Given the description of an element on the screen output the (x, y) to click on. 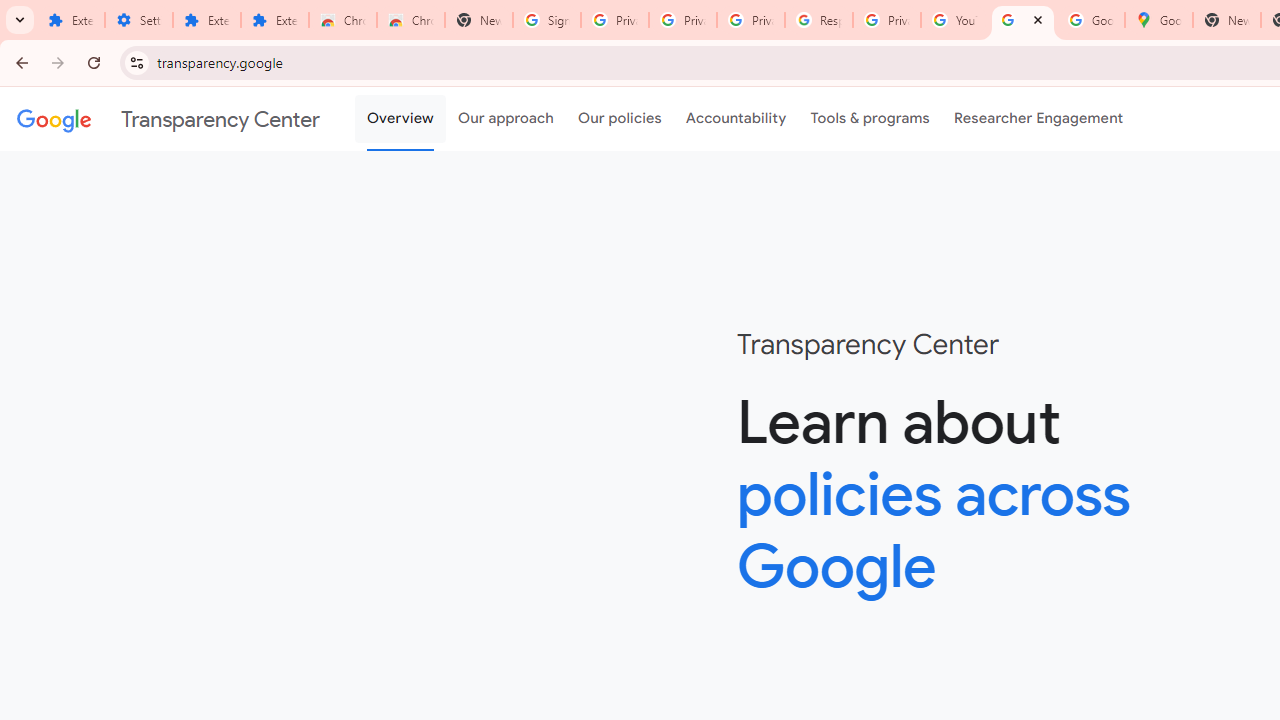
Google Maps (1158, 20)
Chrome Web Store - Themes (411, 20)
Researcher Engagement (1038, 119)
Settings (138, 20)
Accountability (735, 119)
Sign in - Google Accounts (547, 20)
Tools & programs (869, 119)
